Given the description of an element on the screen output the (x, y) to click on. 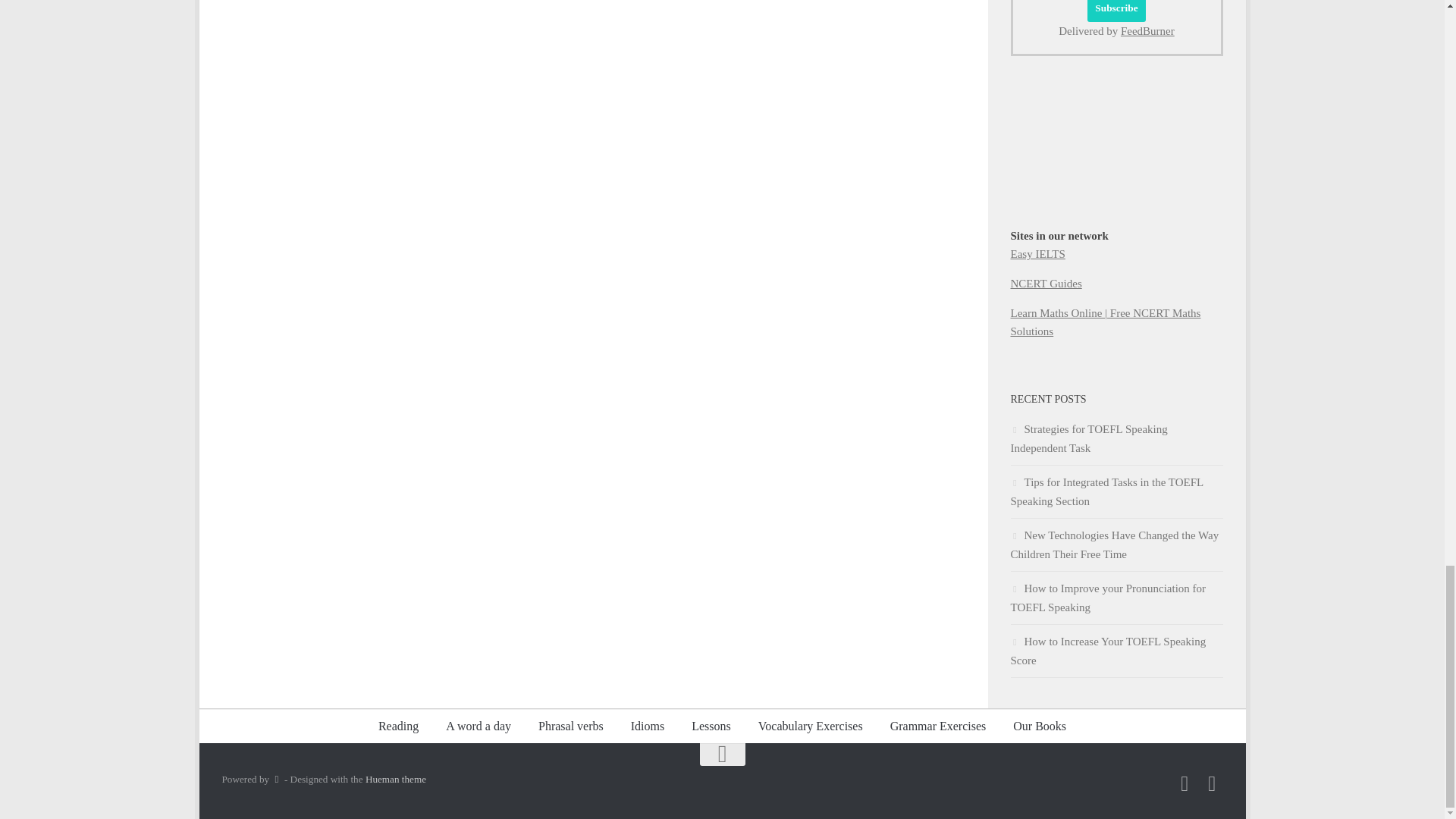
Subscribe (1115, 11)
